Given the description of an element on the screen output the (x, y) to click on. 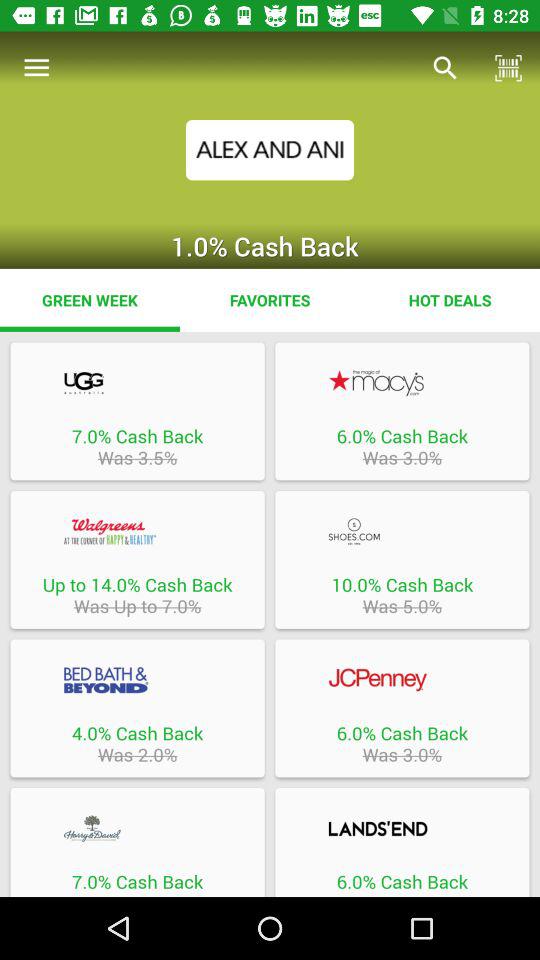
select the item next to favorites icon (90, 299)
